Given the description of an element on the screen output the (x, y) to click on. 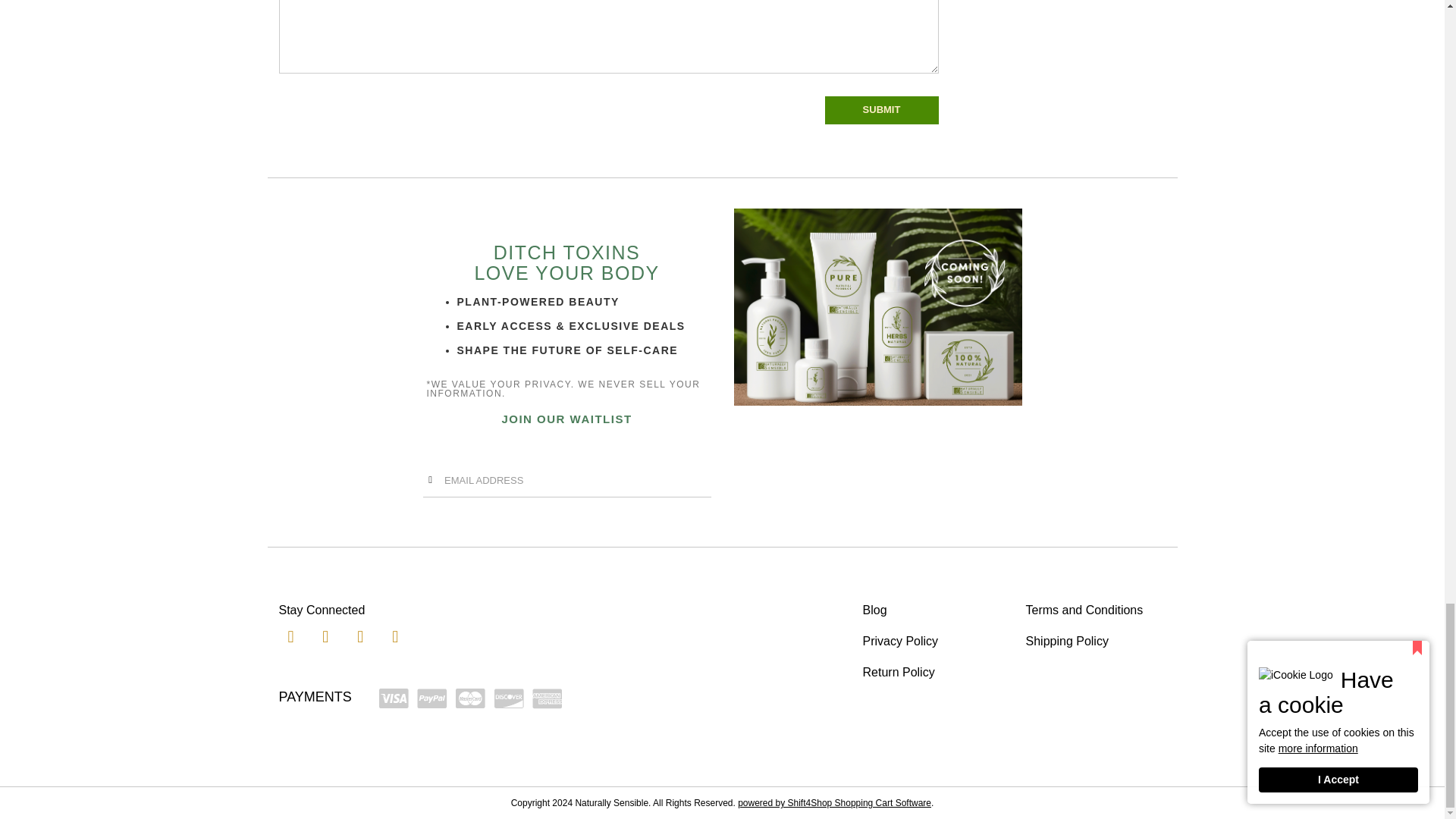
Submit (882, 110)
